Given the description of an element on the screen output the (x, y) to click on. 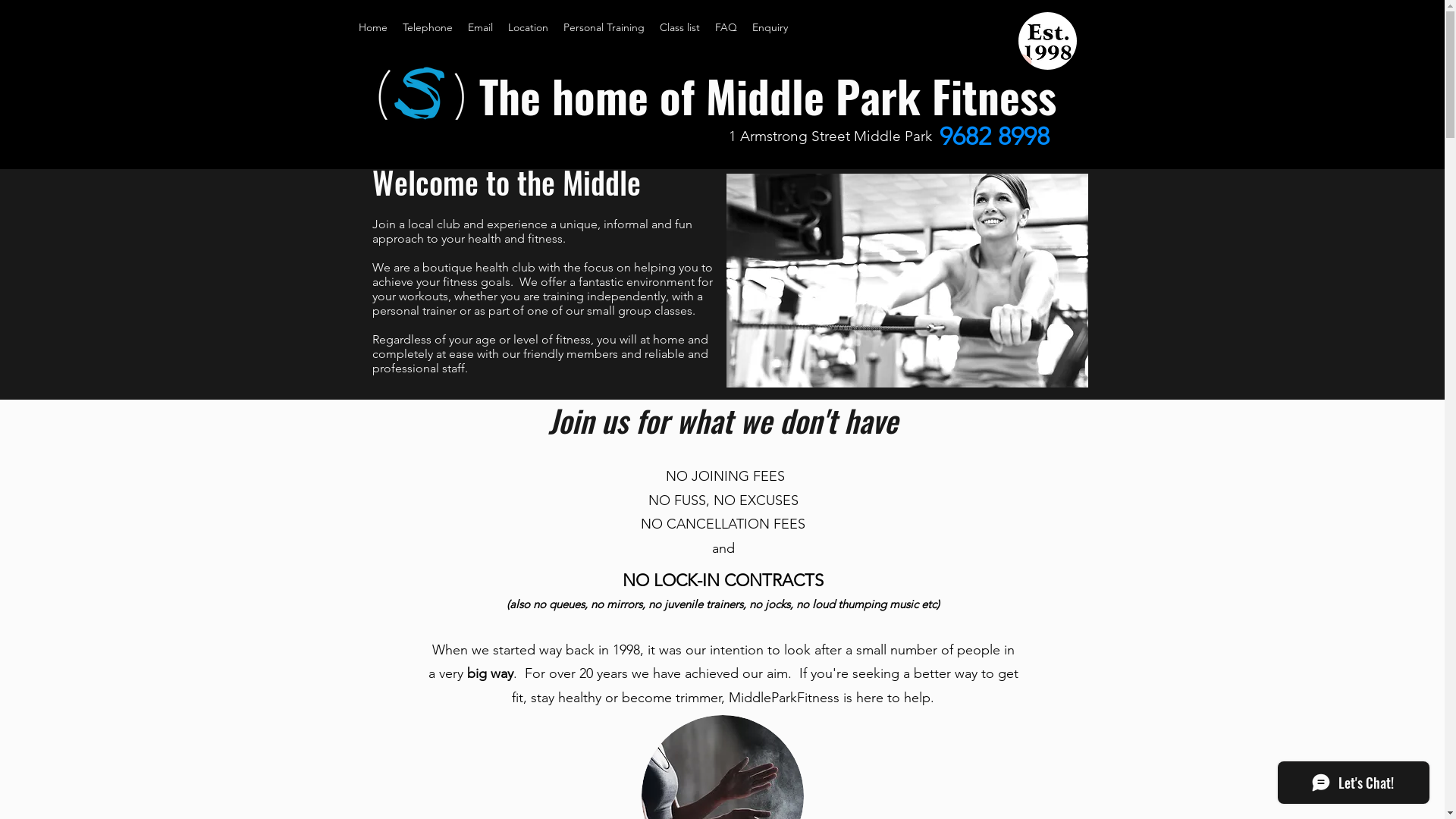
Enquiry Element type: text (769, 27)
Home Element type: text (372, 27)
Welcome to the Middle Element type: text (505, 181)
Class list Element type: text (679, 27)
Email Element type: text (479, 27)
Telephone Element type: text (426, 27)
FAQ Element type: text (724, 27)
Location Element type: text (527, 27)
The home of Middle Park Fitness Element type: text (767, 95)
Personal Training Element type: text (603, 27)
